Given the description of an element on the screen output the (x, y) to click on. 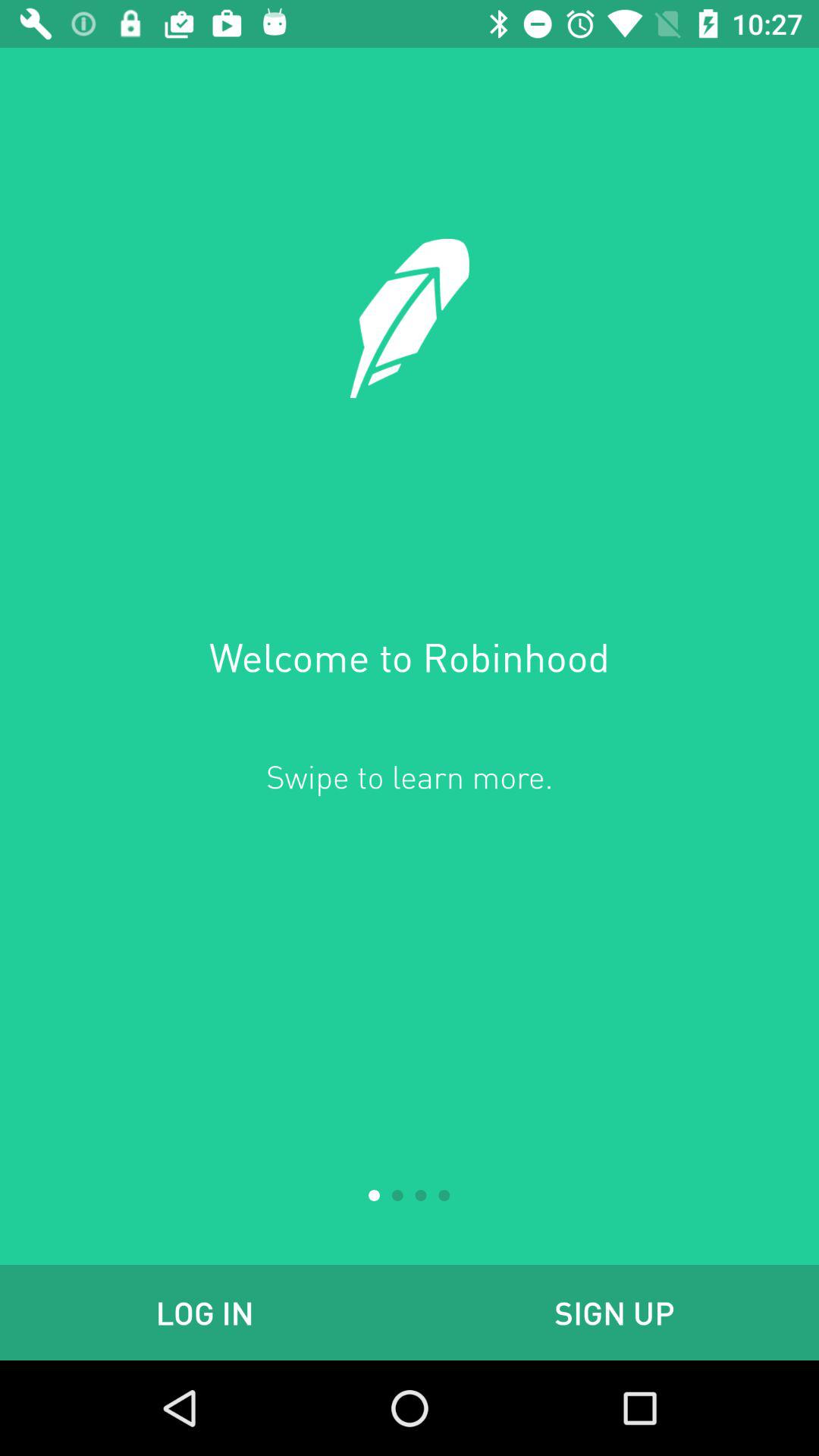
open the icon to the right of log in (614, 1312)
